Given the description of an element on the screen output the (x, y) to click on. 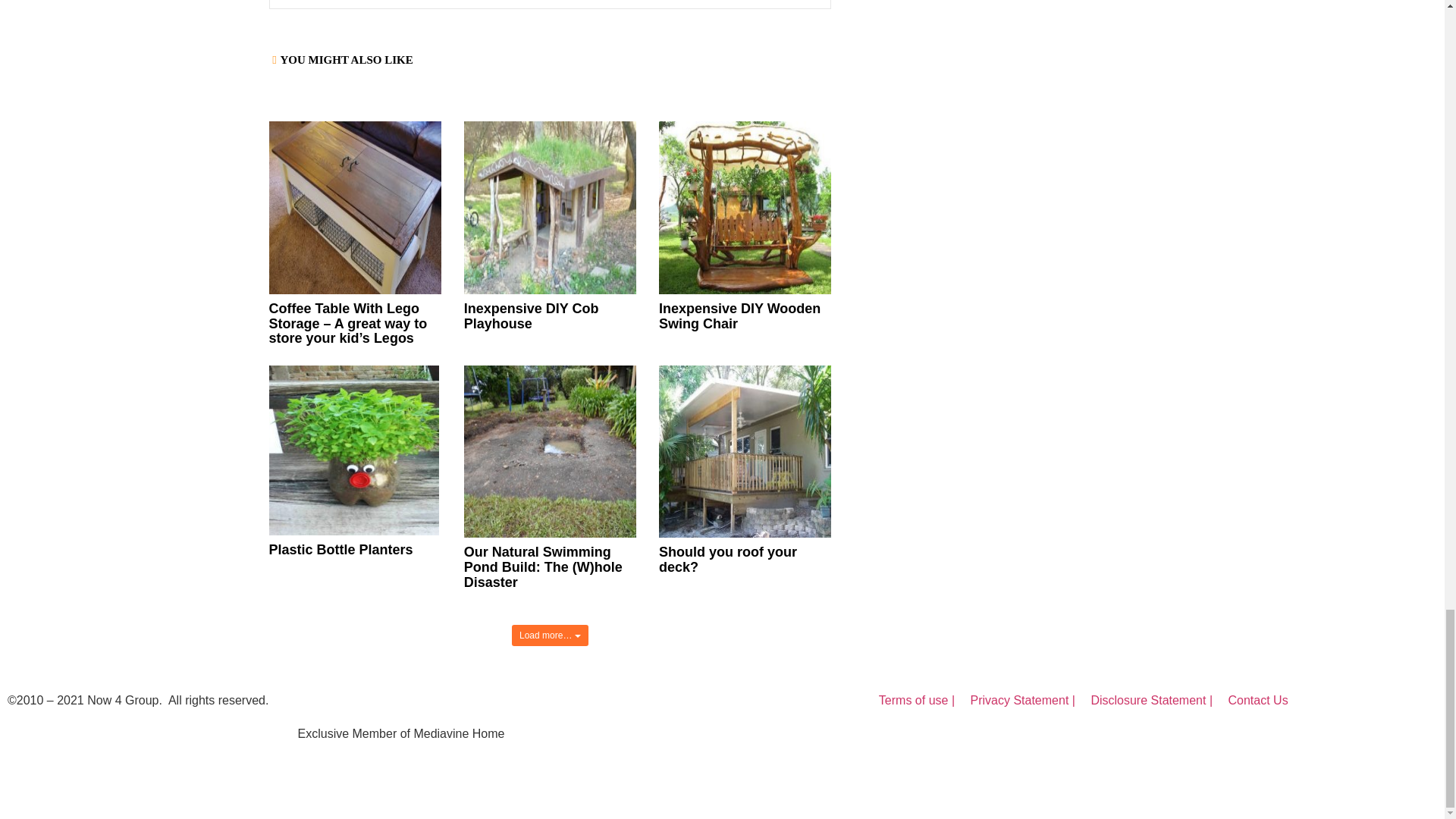
Should you roof your deck? (727, 559)
Inexpensive DIY Cob Playhouse (531, 316)
Inexpensive DIY Wooden Swing Chair (740, 316)
Plastic Bottle Planters (339, 549)
